Given the description of an element on the screen output the (x, y) to click on. 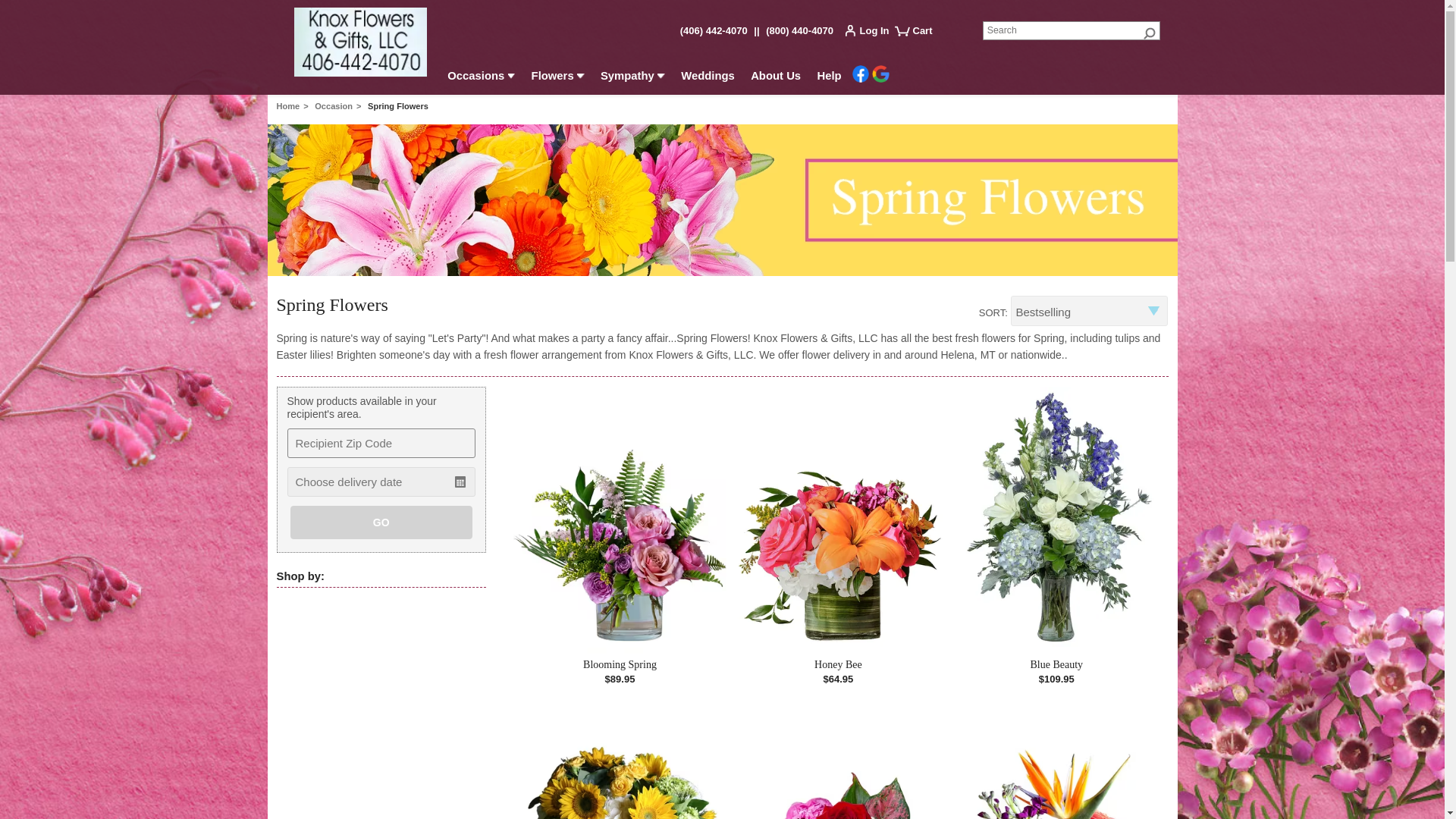
Search (1071, 30)
Cart (919, 36)
Flowers (557, 78)
GO (380, 522)
Log In (870, 33)
log In (870, 33)
Sort By (1088, 310)
Go (1149, 32)
Occasions (481, 78)
